Given the description of an element on the screen output the (x, y) to click on. 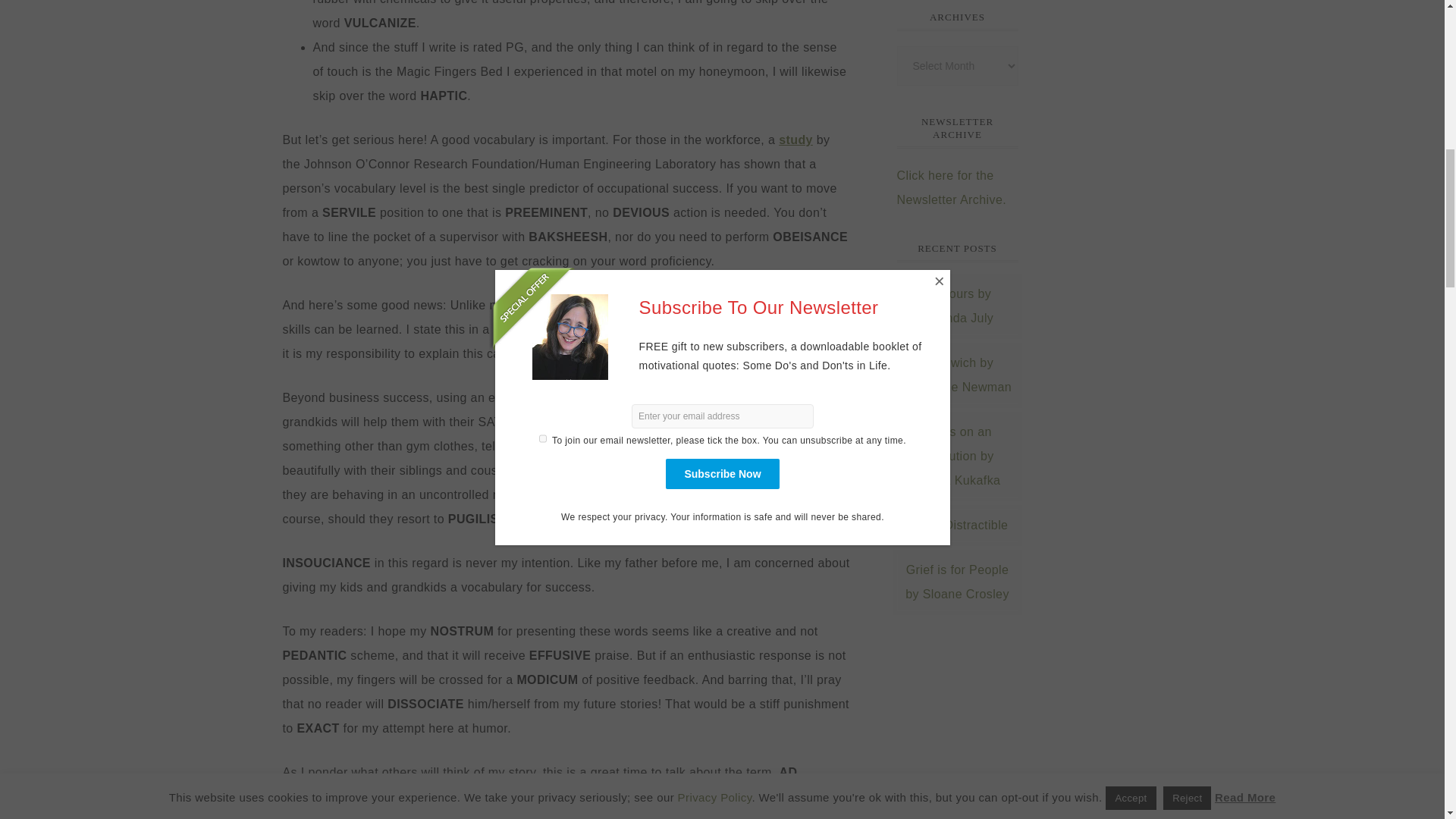
study (795, 139)
